Given the description of an element on the screen output the (x, y) to click on. 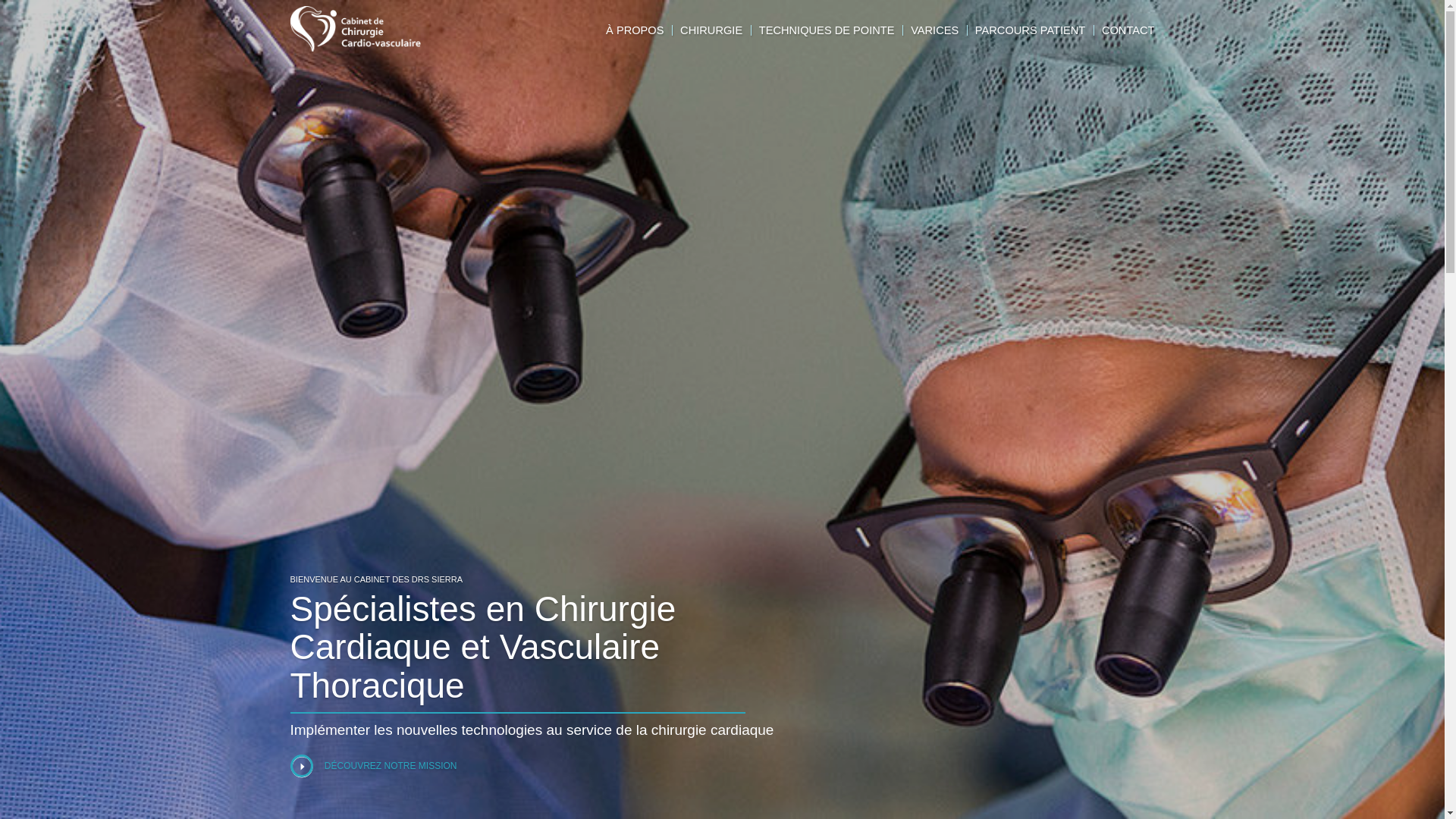
VARICES Element type: text (934, 29)
TECHNIQUES DE POINTE Element type: text (826, 29)
PARCOURS PATIENT Element type: text (1030, 29)
CONTACT Element type: text (1127, 29)
CHIRURGIE Element type: text (711, 29)
